Given the description of an element on the screen output the (x, y) to click on. 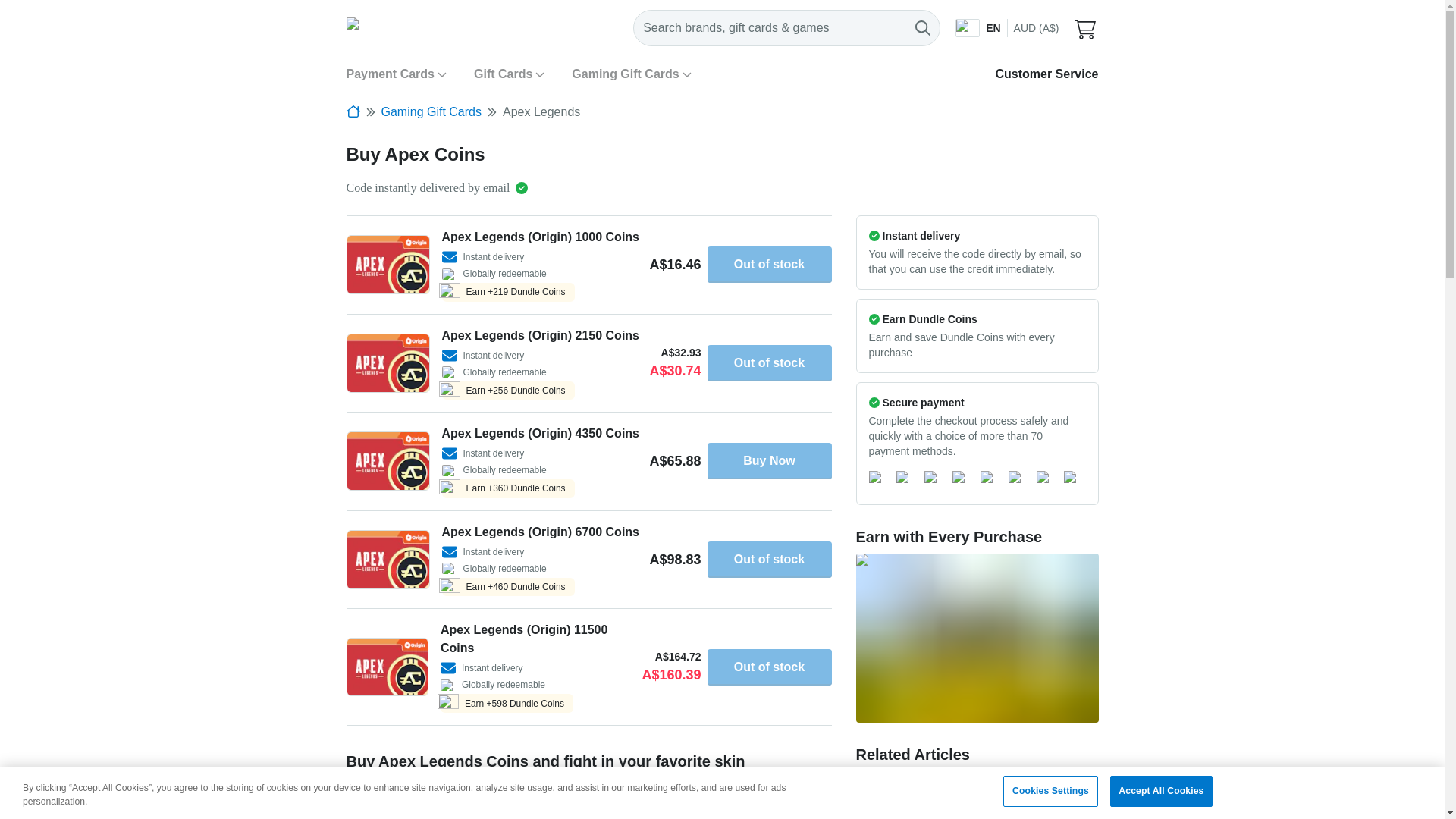
Gaming Gift Cards (631, 73)
Buy Now (768, 461)
Customer Service (1045, 73)
Out of stock (768, 559)
Shopping Cart (1085, 27)
Go to the homepage in Australia (352, 111)
Payment Cards (396, 73)
Cookies Settings (1050, 790)
Accept All Cookies (1160, 790)
Out of stock (768, 264)
Gift Cards (509, 73)
Out of stock (768, 362)
Out of stock (768, 667)
Gaming Gift Cards (430, 111)
Gaming Gift Cards (430, 111)
